Given the description of an element on the screen output the (x, y) to click on. 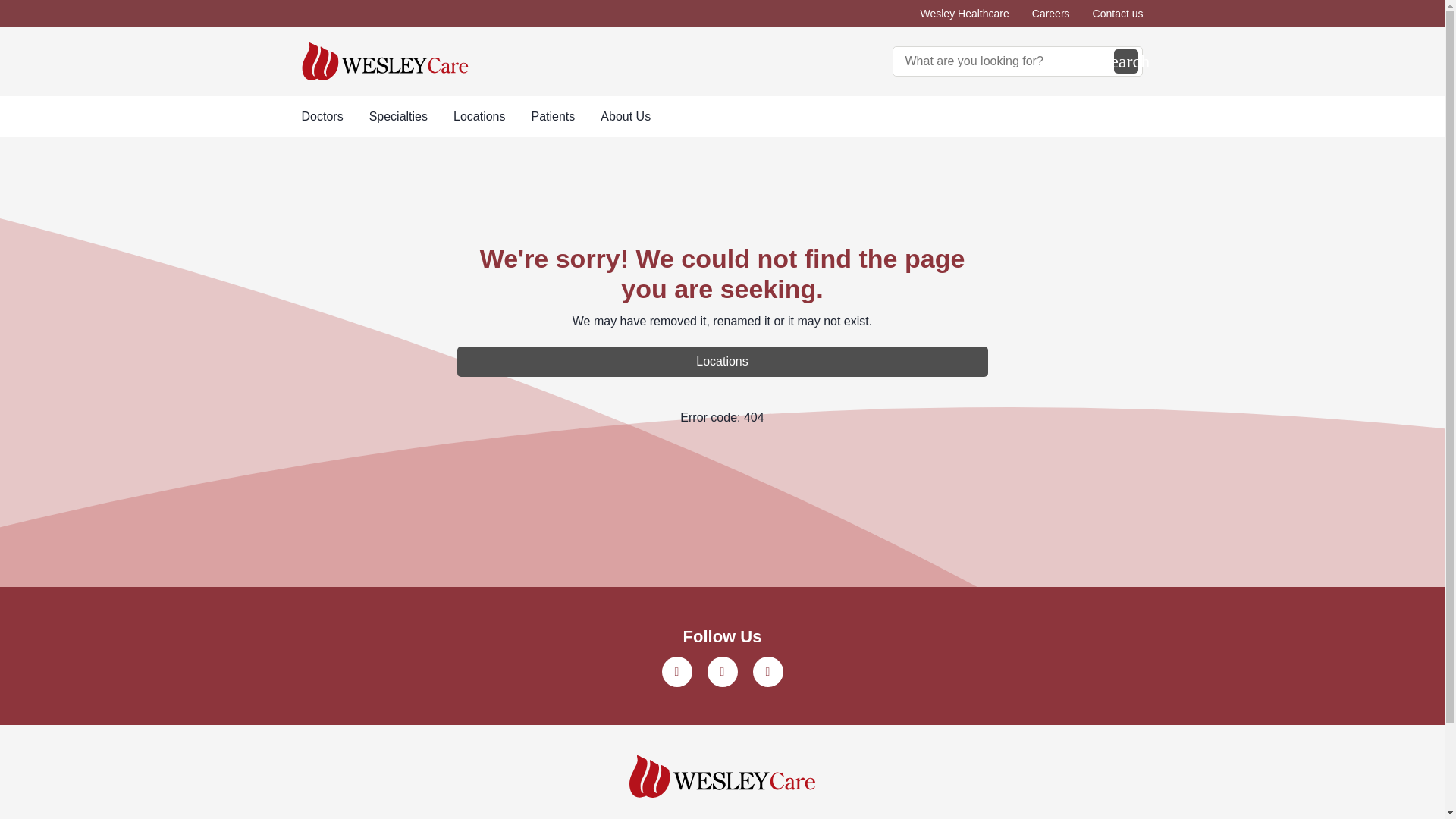
Locations (478, 116)
search (1125, 61)
Doctors (322, 116)
Locations (722, 361)
Specialties (398, 116)
Careers (1051, 13)
Patients (553, 116)
About Us (624, 116)
Skip to Content (3, 3)
Contact us (1117, 13)
